Given the description of an element on the screen output the (x, y) to click on. 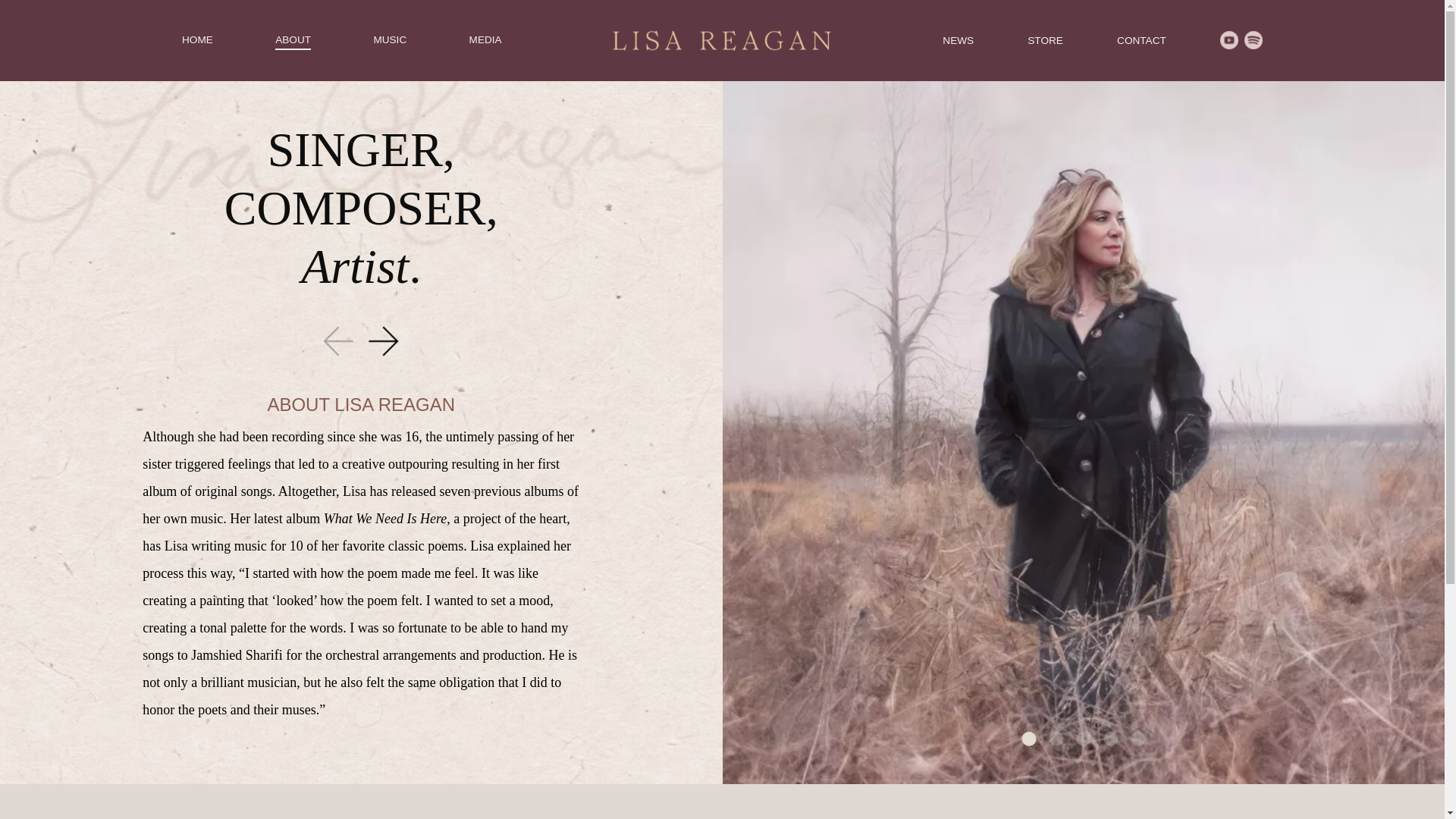
MEDIA (485, 39)
HOME (197, 39)
ABOUT (293, 39)
MUSIC (389, 39)
NEWS (958, 40)
CONTACT (1141, 40)
STORE (1044, 40)
